Given the description of an element on the screen output the (x, y) to click on. 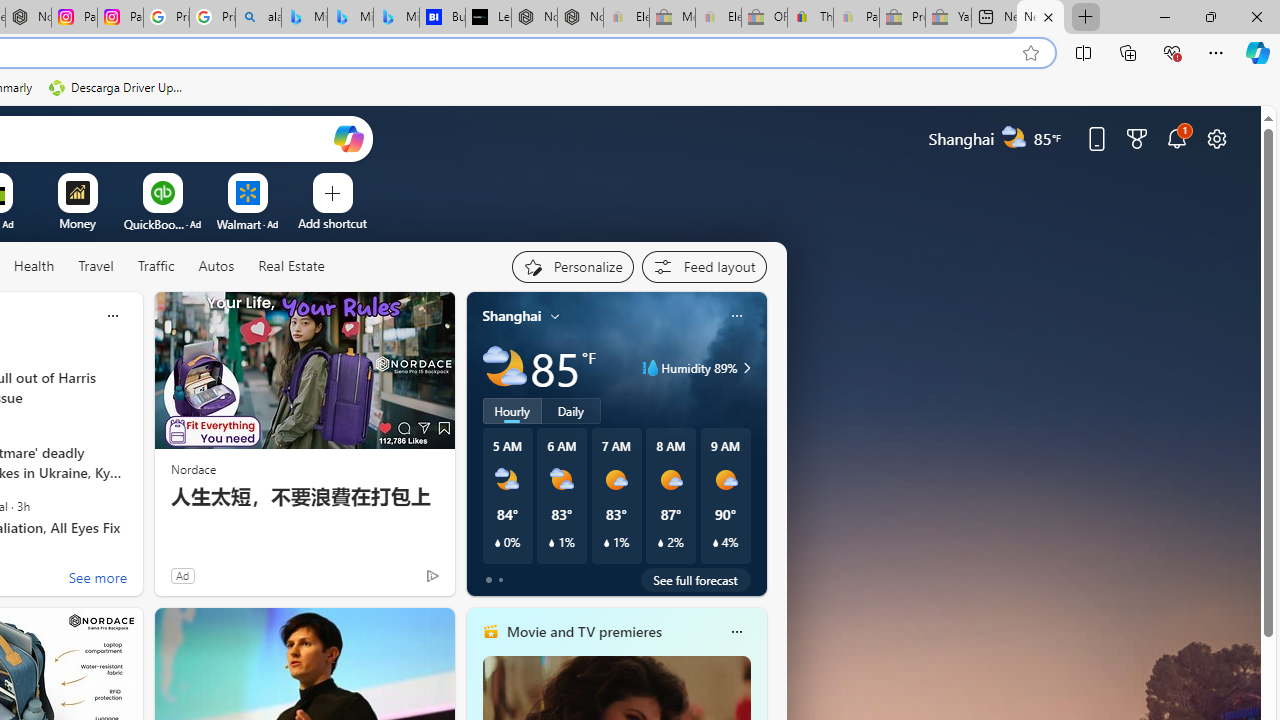
Page settings (1216, 138)
Press Room - eBay Inc. - Sleeping (902, 17)
Movie and TV premieres (583, 631)
tab-0 (488, 579)
See full forecast (695, 579)
Travel (95, 267)
Payments Terms of Use | eBay.com - Sleeping (856, 17)
